Given the description of an element on the screen output the (x, y) to click on. 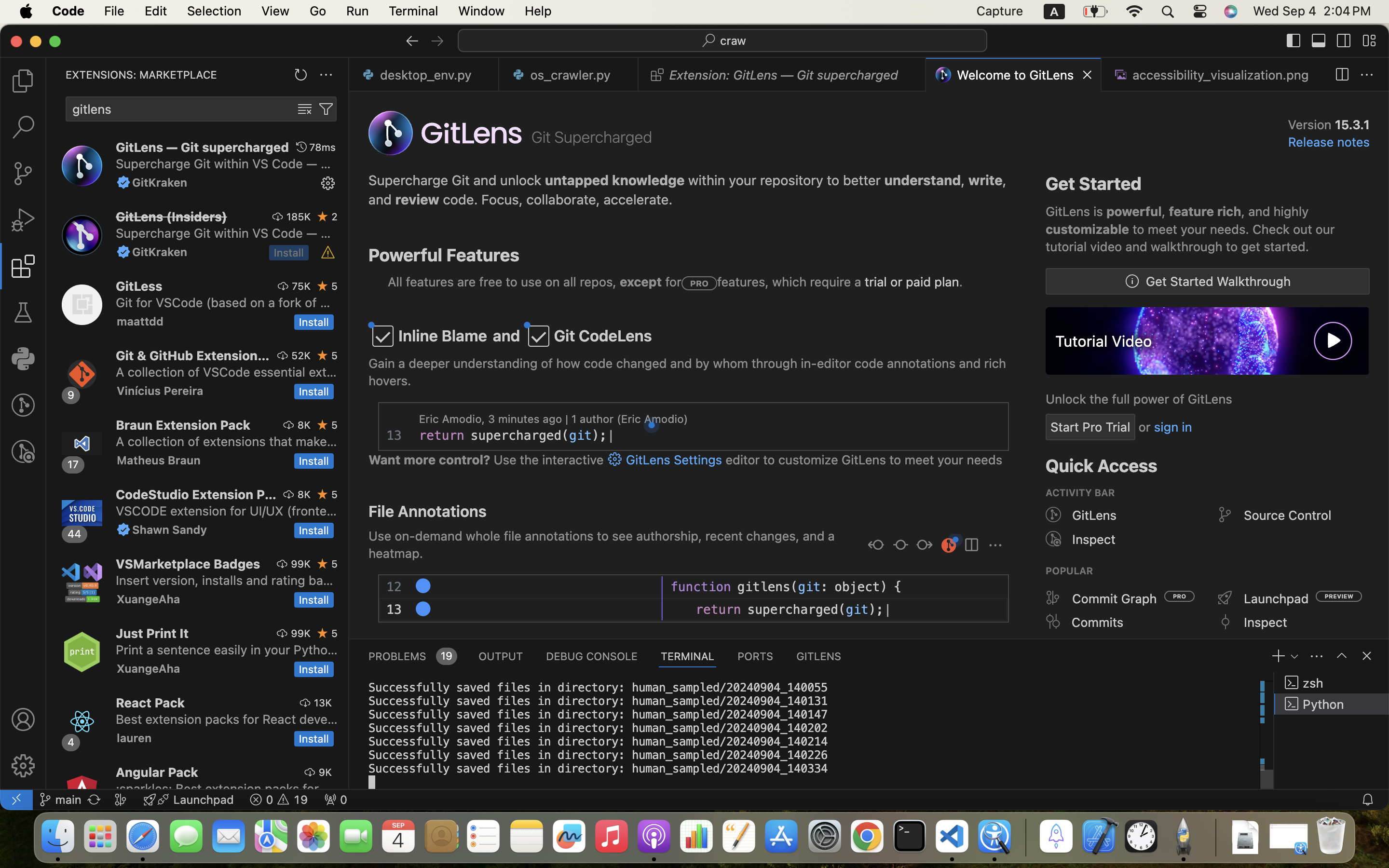
 Element type: AXGroup (23, 404)
Git Supercharged Element type: AXStaticText (592, 136)
Git for VSCode (based on a fork of Gitlens) Element type: AXStaticText (222, 302)
0  Element type: AXRadioButton (23, 173)
 Element type: AXStaticText (614, 459)
